Given the description of an element on the screen output the (x, y) to click on. 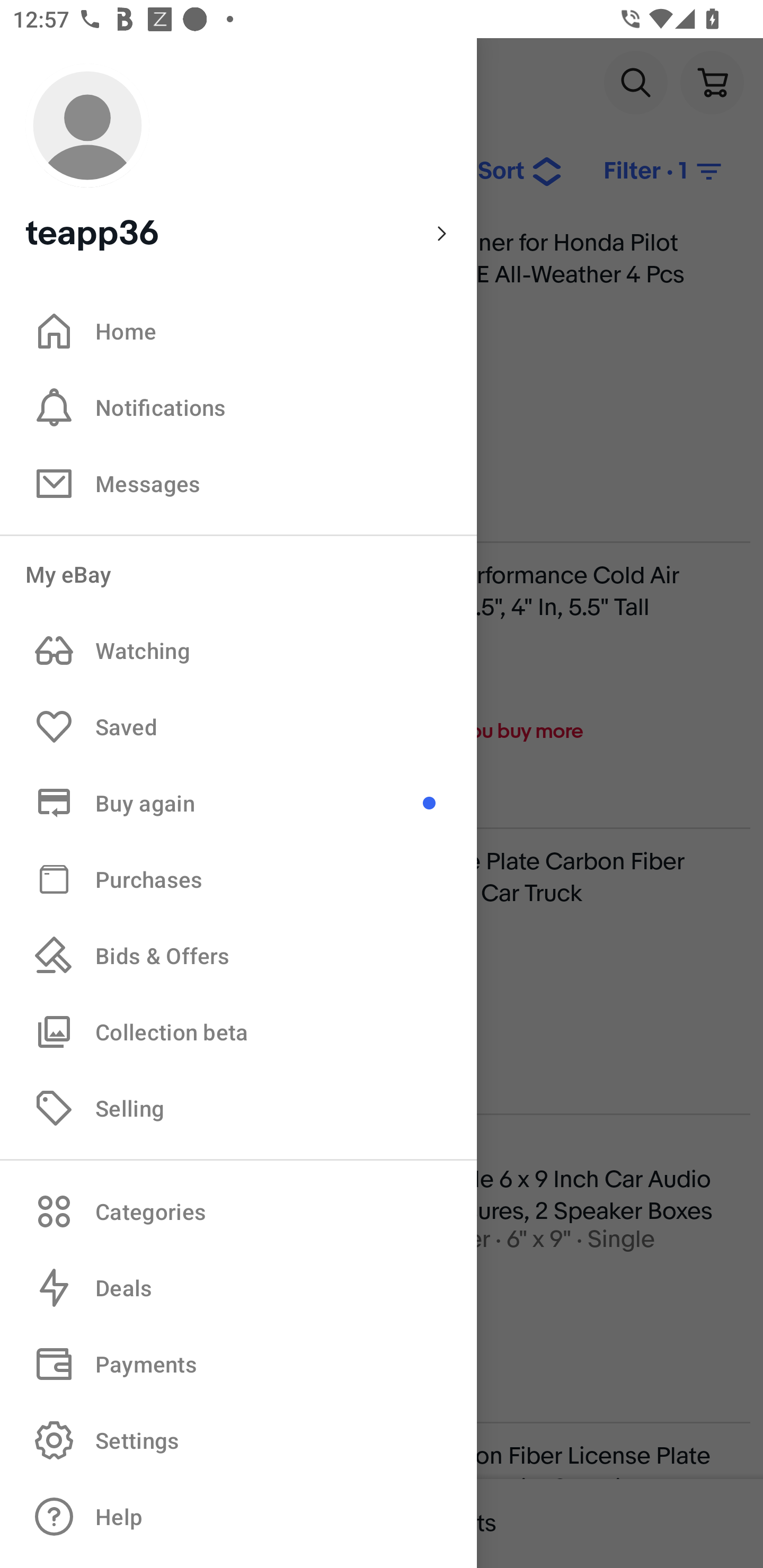
teapp36 (238, 158)
Home (238, 330)
Notifications (238, 406)
Messages (238, 483)
Watching (238, 650)
Saved (238, 726)
Buy again Is new feature (238, 802)
Purchases (238, 878)
Bids & Offers (238, 955)
Collection beta (238, 1031)
Selling (238, 1107)
Categories (238, 1210)
Deals (238, 1287)
Payments (238, 1363)
Settings (238, 1439)
Help (238, 1516)
